Given the description of an element on the screen output the (x, y) to click on. 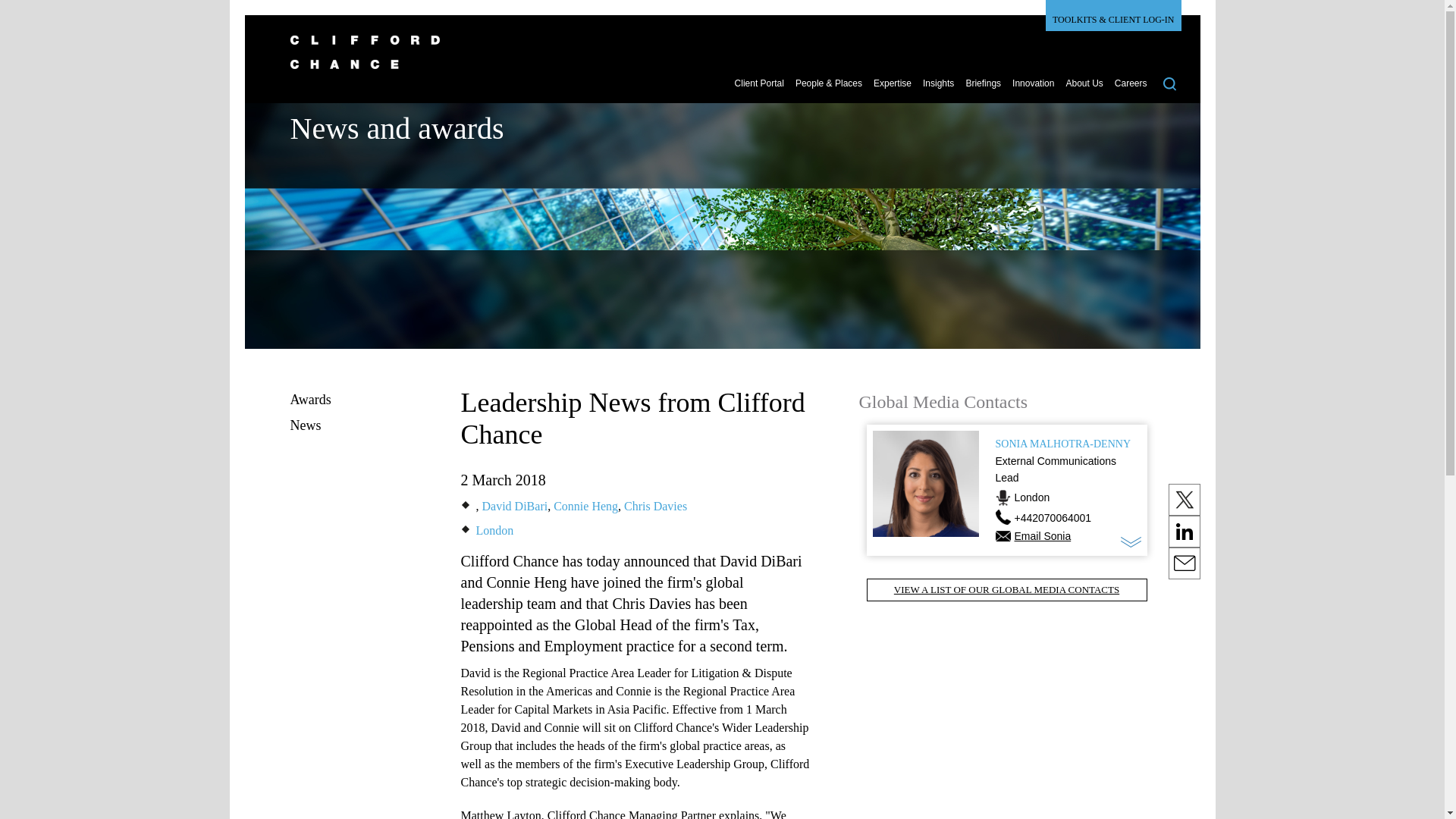
Chris Davies (655, 505)
Connie Heng (585, 505)
Client Portal (759, 89)
David DiBari (514, 505)
Clifford Chance, London (494, 530)
Clifford Chance (713, 60)
